Given the description of an element on the screen output the (x, y) to click on. 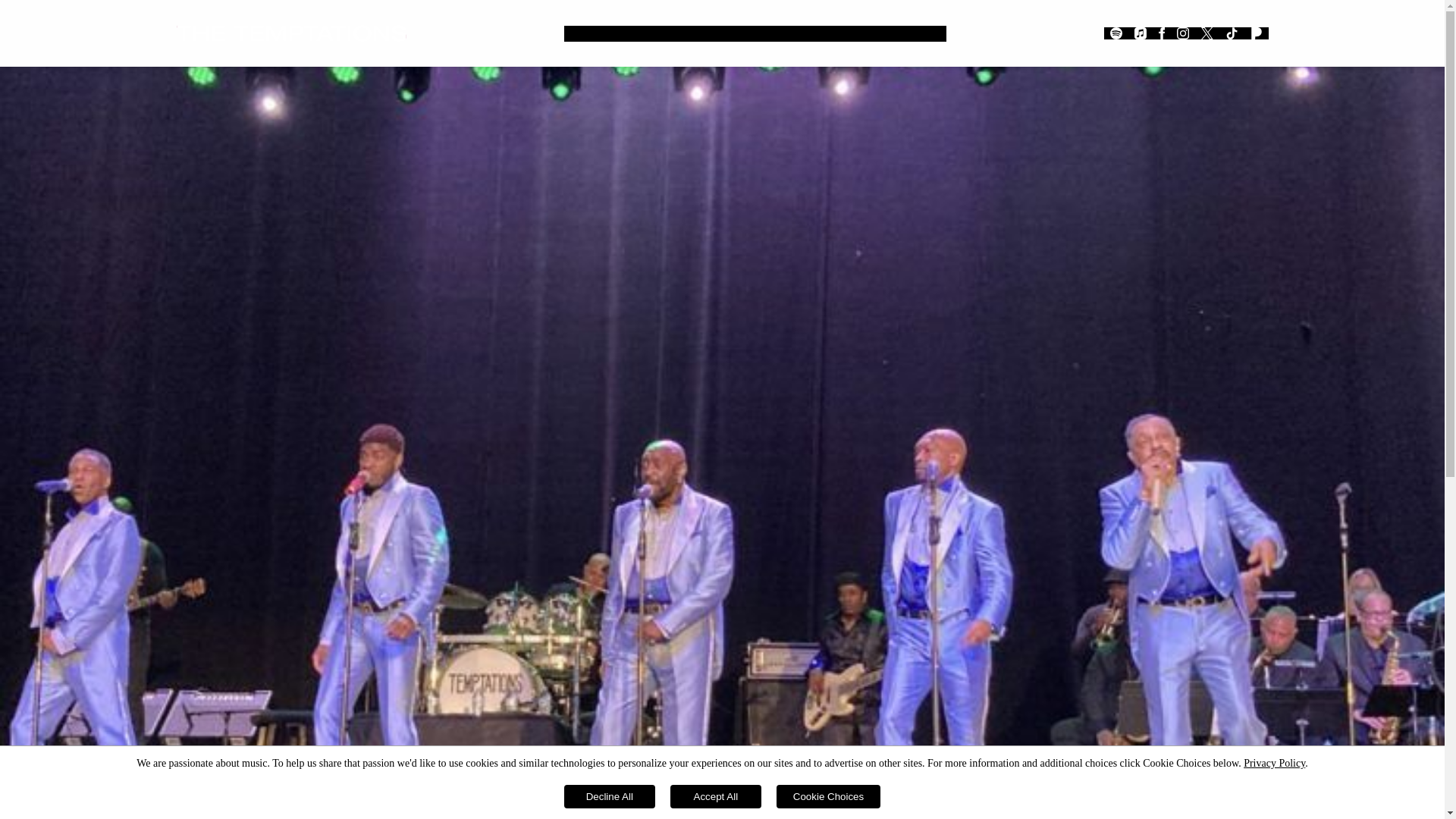
VIDEOS (774, 32)
TOUR (820, 32)
HISTORY (669, 32)
NEWS (585, 32)
MUSIC (723, 32)
SHOP (925, 32)
MUSICAL (873, 32)
BIO (622, 32)
THE TEMPTATIONS (291, 33)
